Given the description of an element on the screen output the (x, y) to click on. 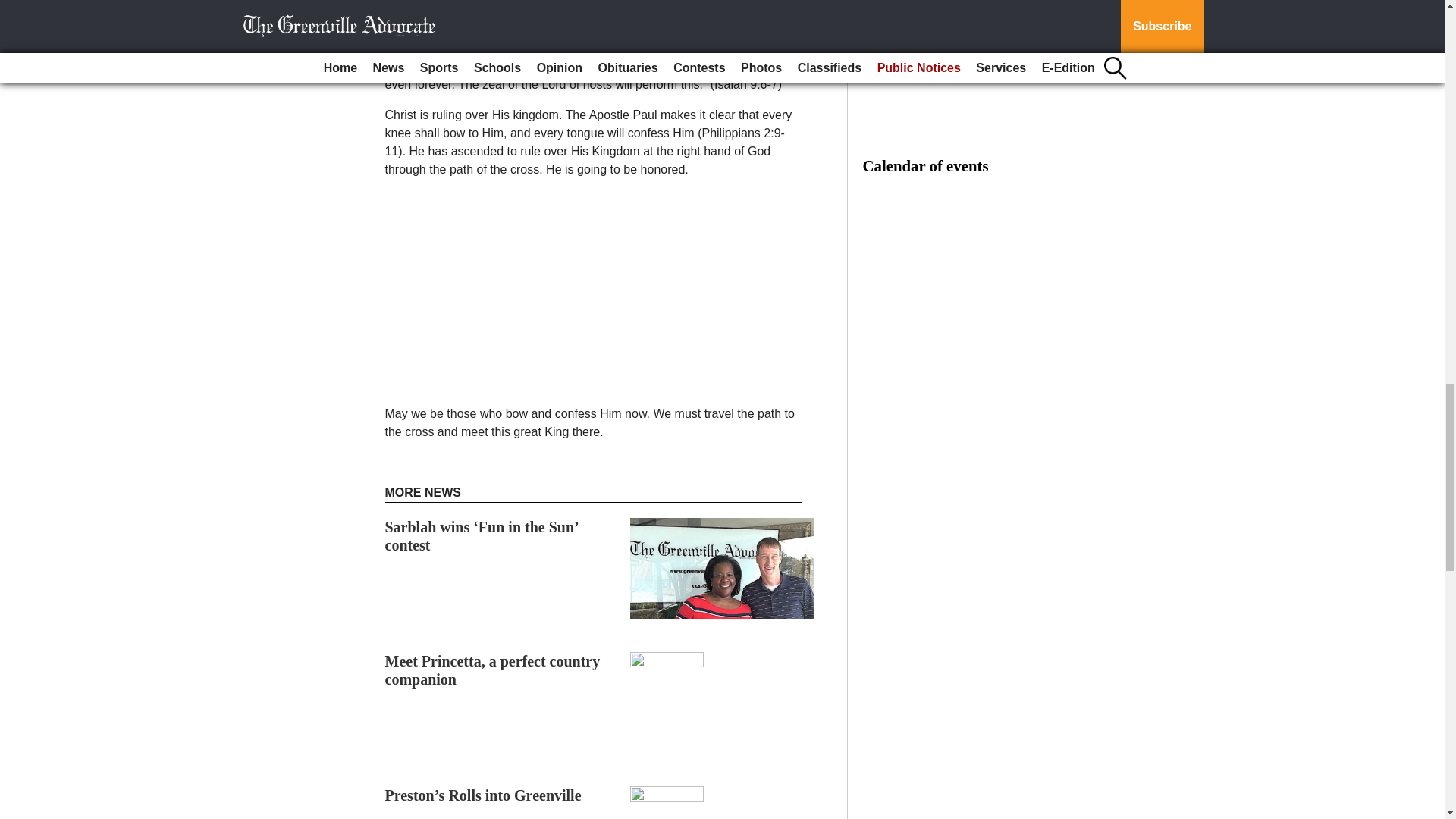
Meet Princetta, a perfect country companion (492, 669)
Meet Princetta, a perfect country companion (492, 669)
